Given the description of an element on the screen output the (x, y) to click on. 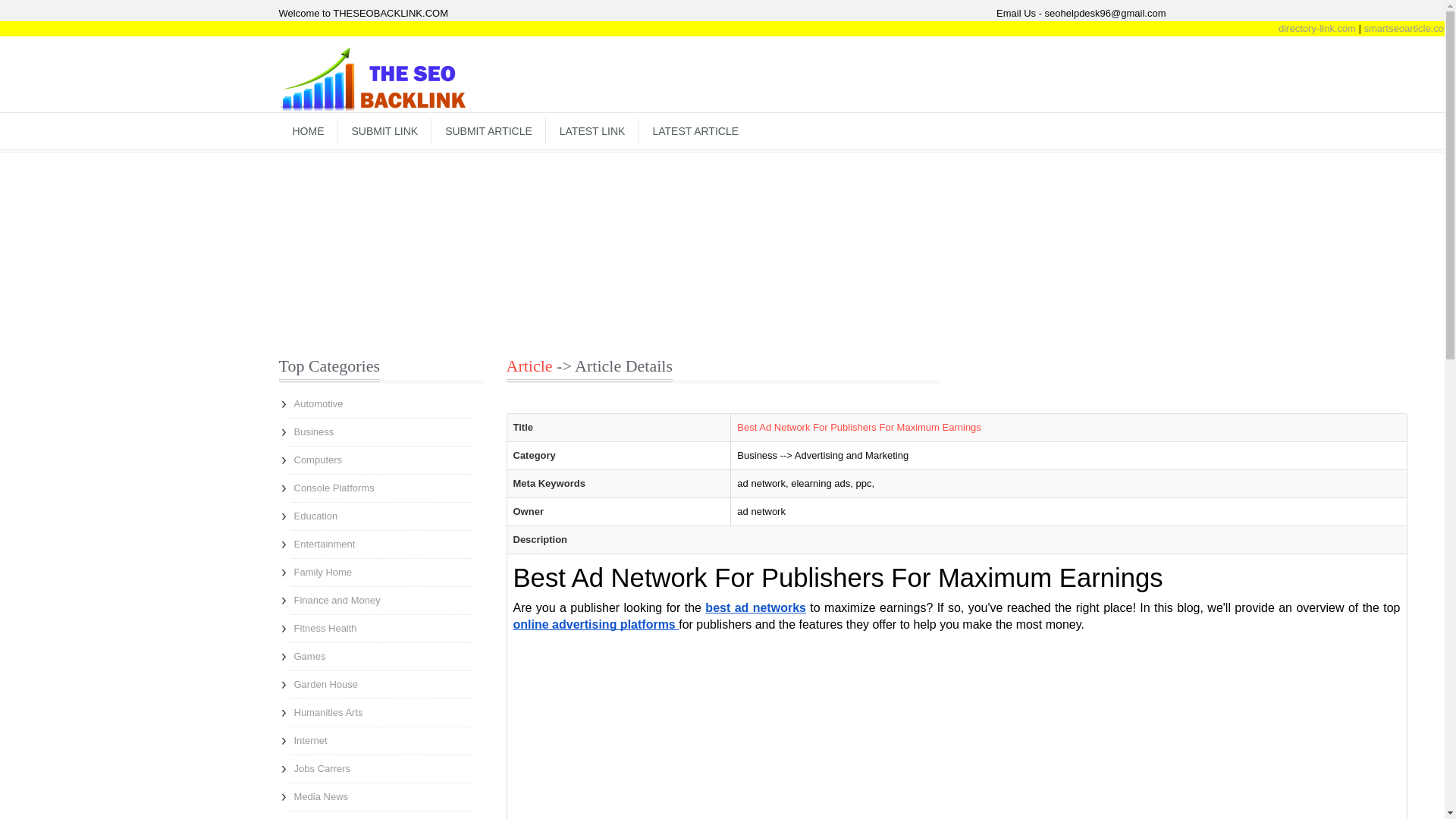
Console Platforms (381, 488)
LATEST LINK (592, 130)
Education (381, 515)
HOME (308, 130)
Humanities Arts (381, 712)
Entertainment (381, 543)
SUBMIT LINK (385, 130)
Business (381, 431)
Fitness Health (381, 628)
Family Home (381, 572)
